Given the description of an element on the screen output the (x, y) to click on. 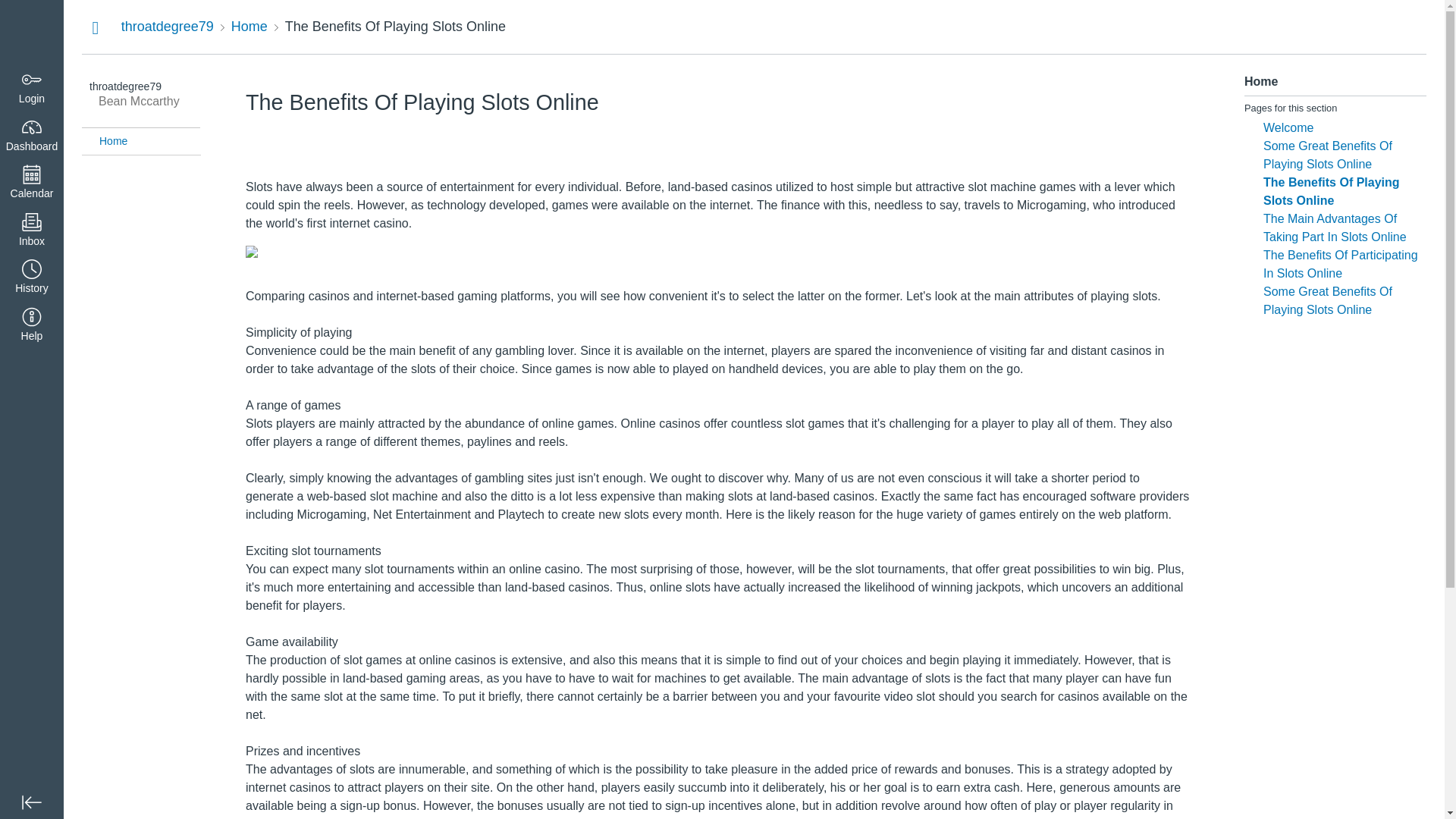
Calendar (32, 182)
Login (32, 88)
Minimize global navigation (32, 802)
Dashboard (32, 32)
Dashboard (32, 135)
throatdegree79 (167, 26)
The Benefits Of Playing Slots Online (395, 26)
Help (32, 325)
Home (249, 26)
History (32, 277)
